Given the description of an element on the screen output the (x, y) to click on. 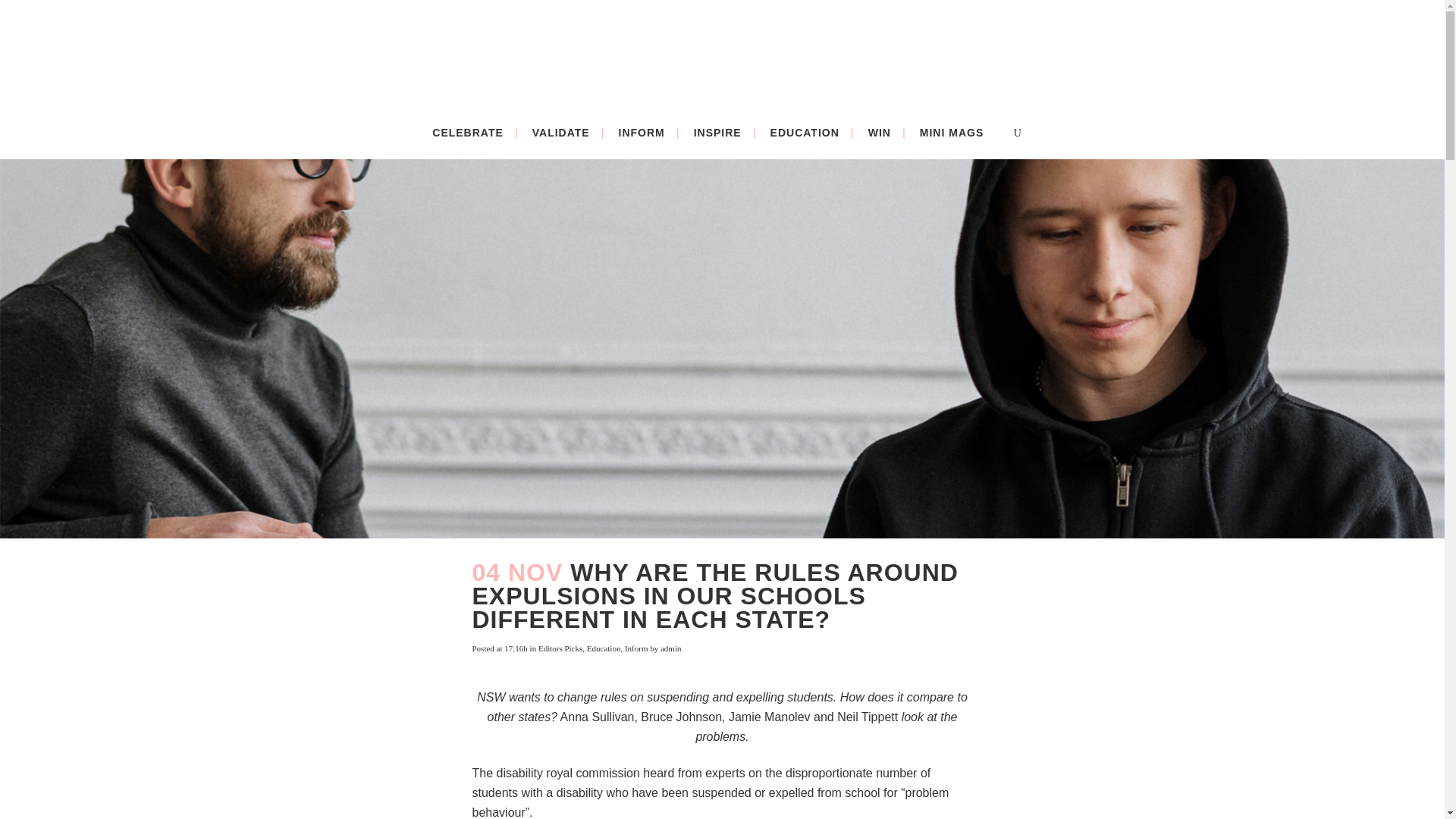
Inform (635, 647)
admin (671, 647)
INFORM (641, 132)
Editors Picks (560, 647)
Education (603, 647)
EDUCATION (804, 132)
MINI MAGS (951, 132)
WIN (880, 132)
CELEBRATE (467, 132)
VALIDATE (560, 132)
INSPIRE (717, 132)
